Given the description of an element on the screen output the (x, y) to click on. 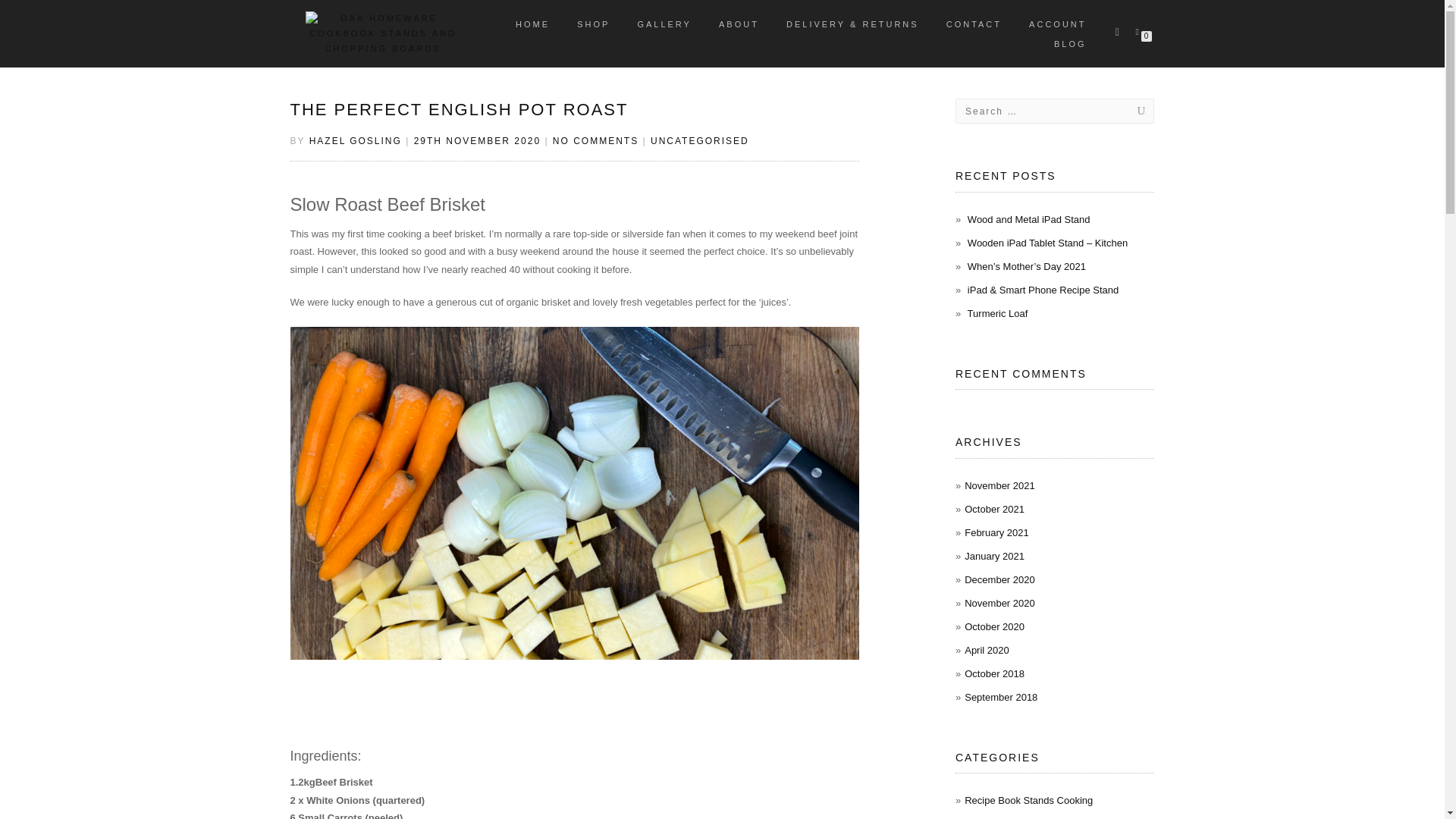
ABOUT (738, 24)
HOME (531, 24)
Search (1125, 110)
UNCATEGORISED (699, 140)
CONTACT (973, 24)
0 (1139, 31)
NO COMMENTS (596, 140)
SHOP (593, 24)
BLOG (1069, 44)
GALLERY (664, 24)
